Given the description of an element on the screen output the (x, y) to click on. 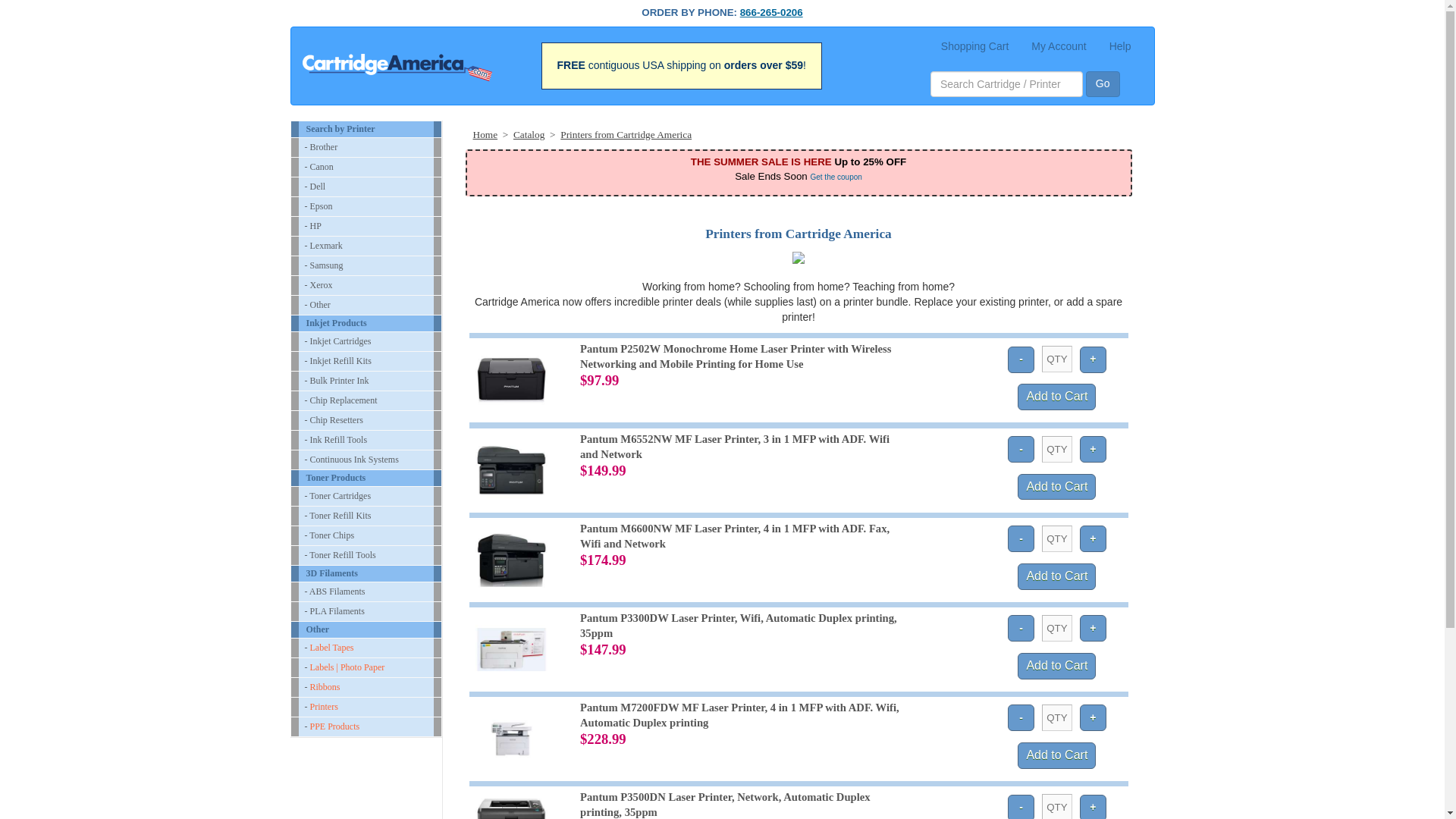
Add to Cart (1056, 665)
- Dell (366, 186)
- (1020, 628)
- Brother (366, 147)
Printers from Cartridge America (625, 134)
- PLA Filaments (366, 610)
Shopping Cart (975, 46)
- Inkjet Refill Kits (366, 361)
- HP (366, 226)
- Ribbons (366, 687)
My Account (1058, 46)
- Toner Cartridges (366, 496)
- Inkjet Cartridges (366, 341)
